Given the description of an element on the screen output the (x, y) to click on. 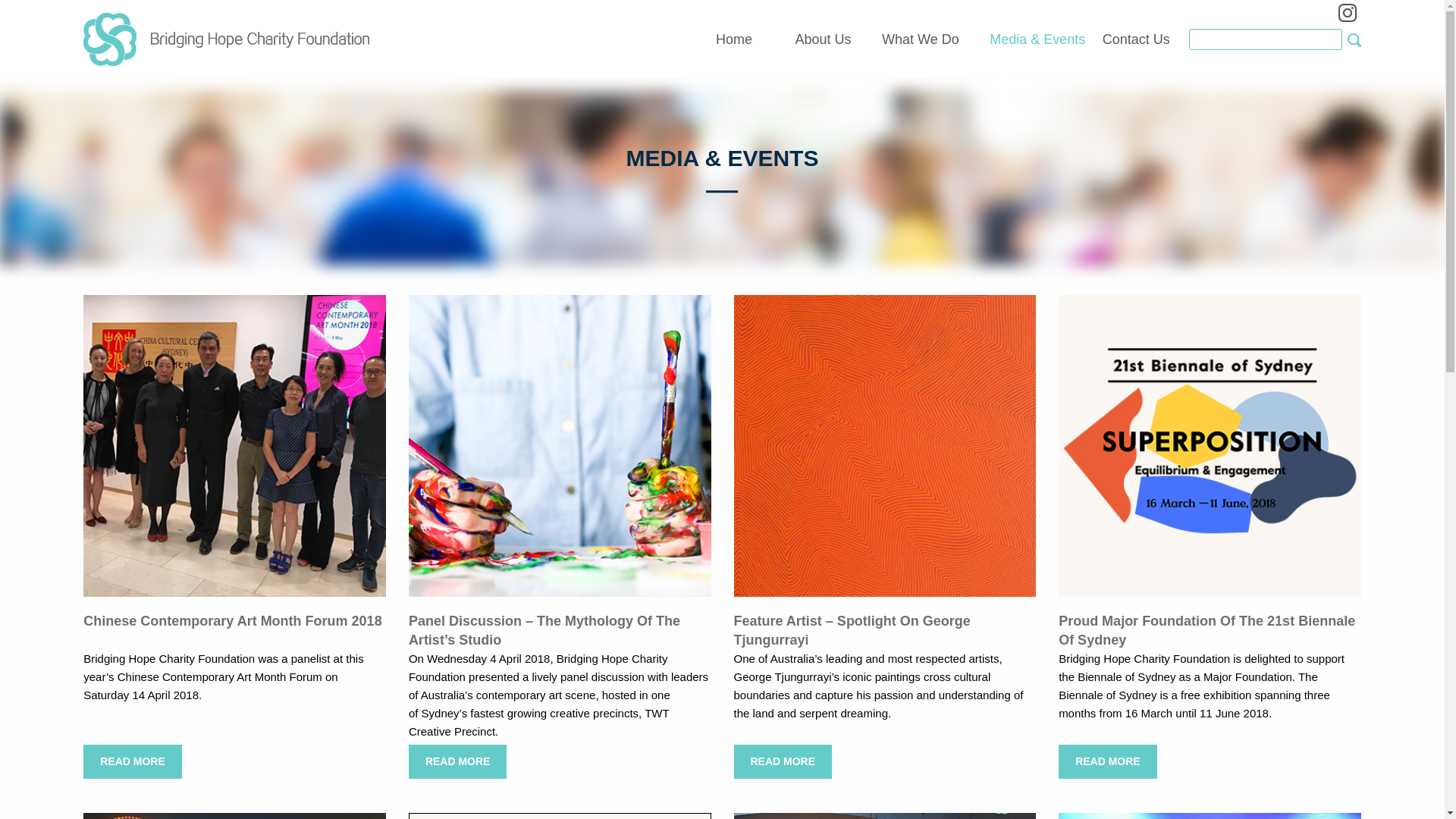
What We Do Element type: text (920, 39)
Media & Events Element type: text (1037, 39)
Contact Us Element type: text (1136, 39)
READ MORE Element type: text (1107, 761)
READ MORE Element type: text (783, 761)
Chinese Contemporary Art Month Forum 2018 Element type: hover (234, 444)
Proud Major Foundation of the 21st Biennale of Sydney Element type: hover (1209, 444)
Home Element type: text (739, 39)
About Us Element type: text (823, 39)
READ MORE Element type: text (457, 761)
Search for: Element type: hover (1265, 39)
READ MORE Element type: text (132, 761)
